Given the description of an element on the screen output the (x, y) to click on. 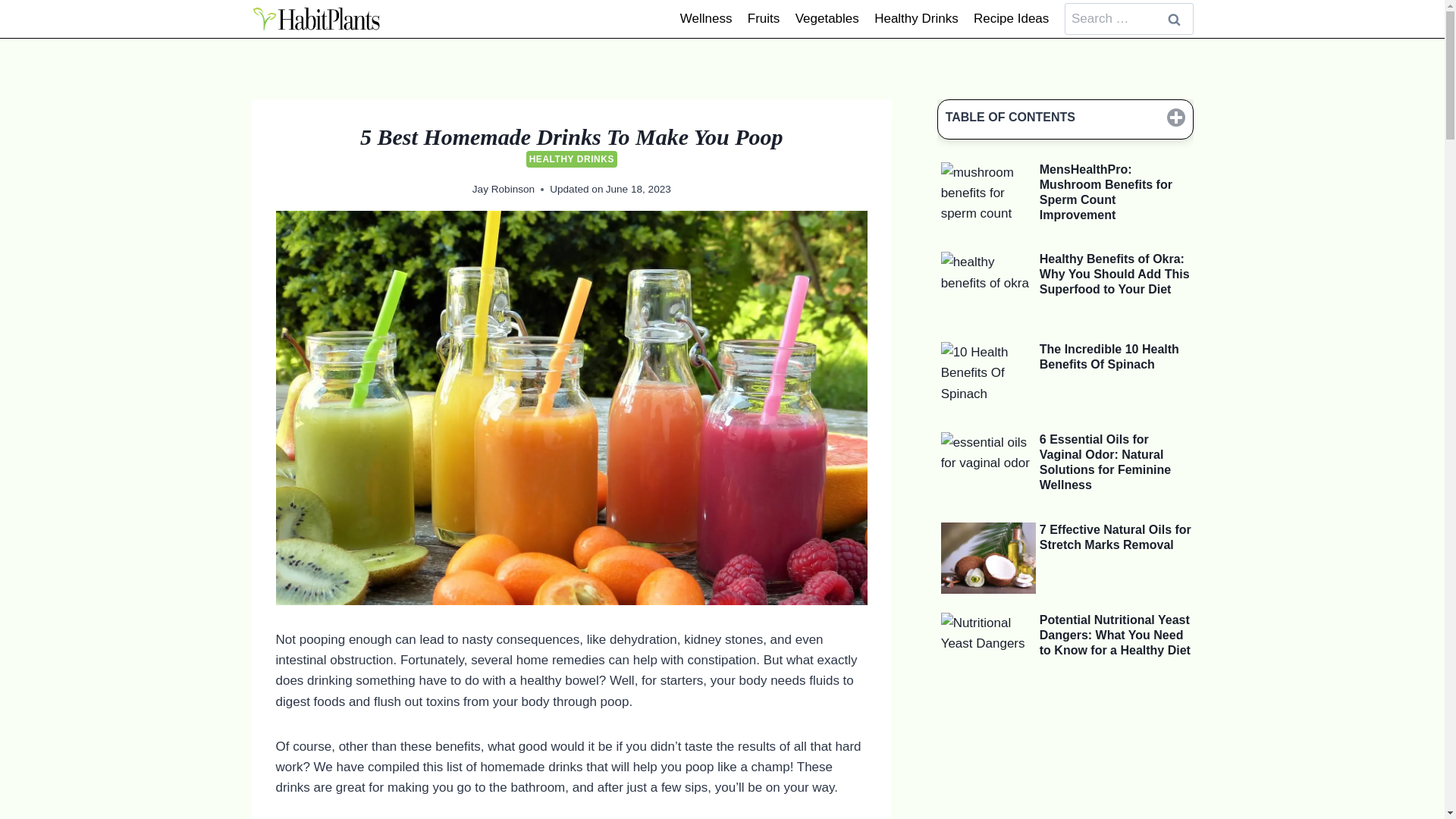
Search (1174, 19)
Jay Robinson (502, 188)
Recipe Ideas (1011, 18)
Vegetables (826, 18)
Fruits (763, 18)
Wellness (705, 18)
Search (1174, 19)
Search (1174, 19)
Healthy Drinks (916, 18)
TABLE OF CONTENTS (1065, 119)
HEALTHY DRINKS (571, 158)
